Given the description of an element on the screen output the (x, y) to click on. 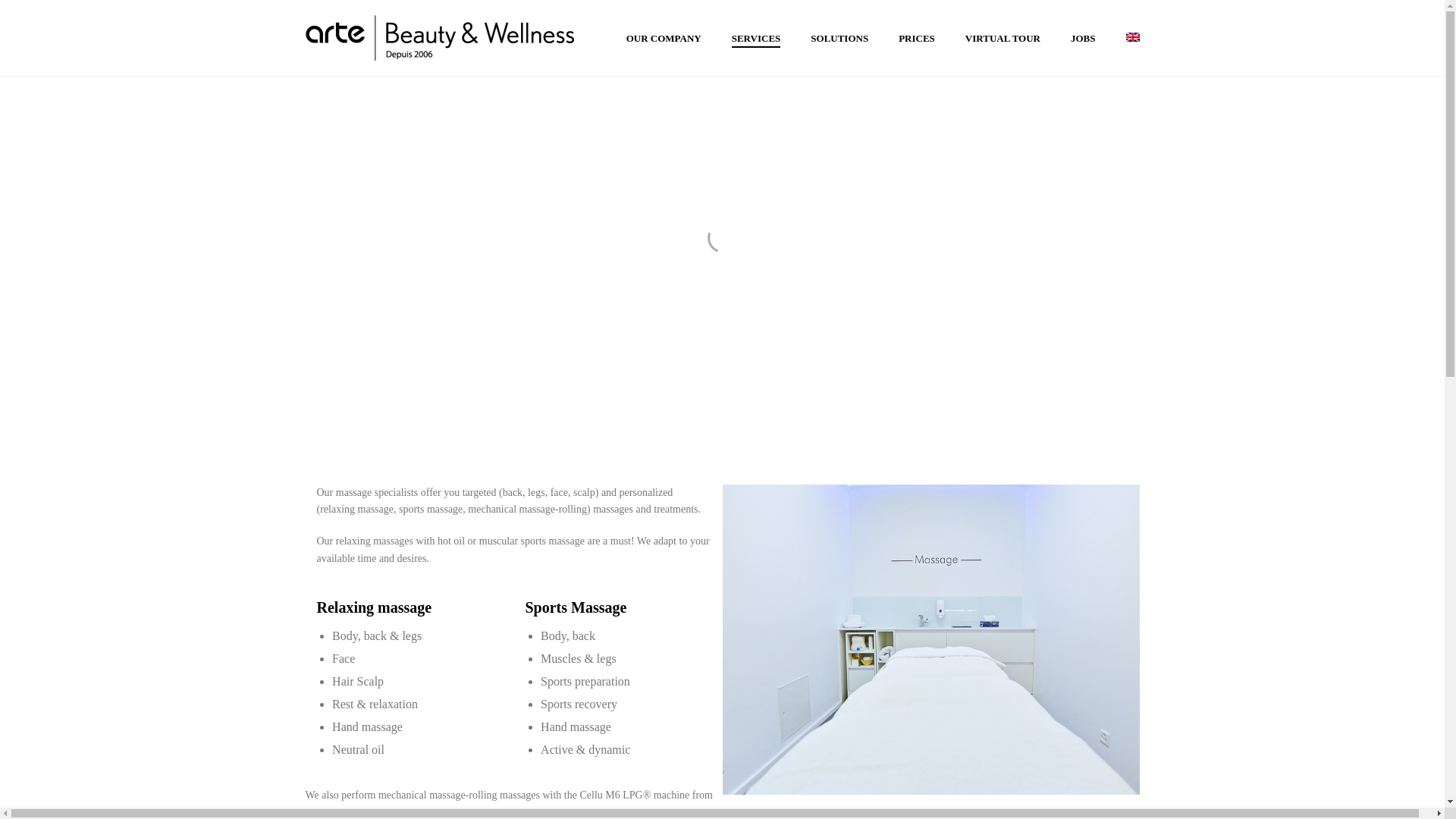
SERVICES Element type: text (756, 38)
VIRTUAL TOUR Element type: text (1002, 38)
SOLUTIONS Element type: text (839, 38)
JOBS Element type: text (1082, 38)
OUR COMPANY Element type: text (663, 38)
ABY_content-massage Element type: hover (930, 639)
Lutry et Ecublens Element type: hover (438, 37)
PRICES Element type: text (916, 38)
